Given the description of an element on the screen output the (x, y) to click on. 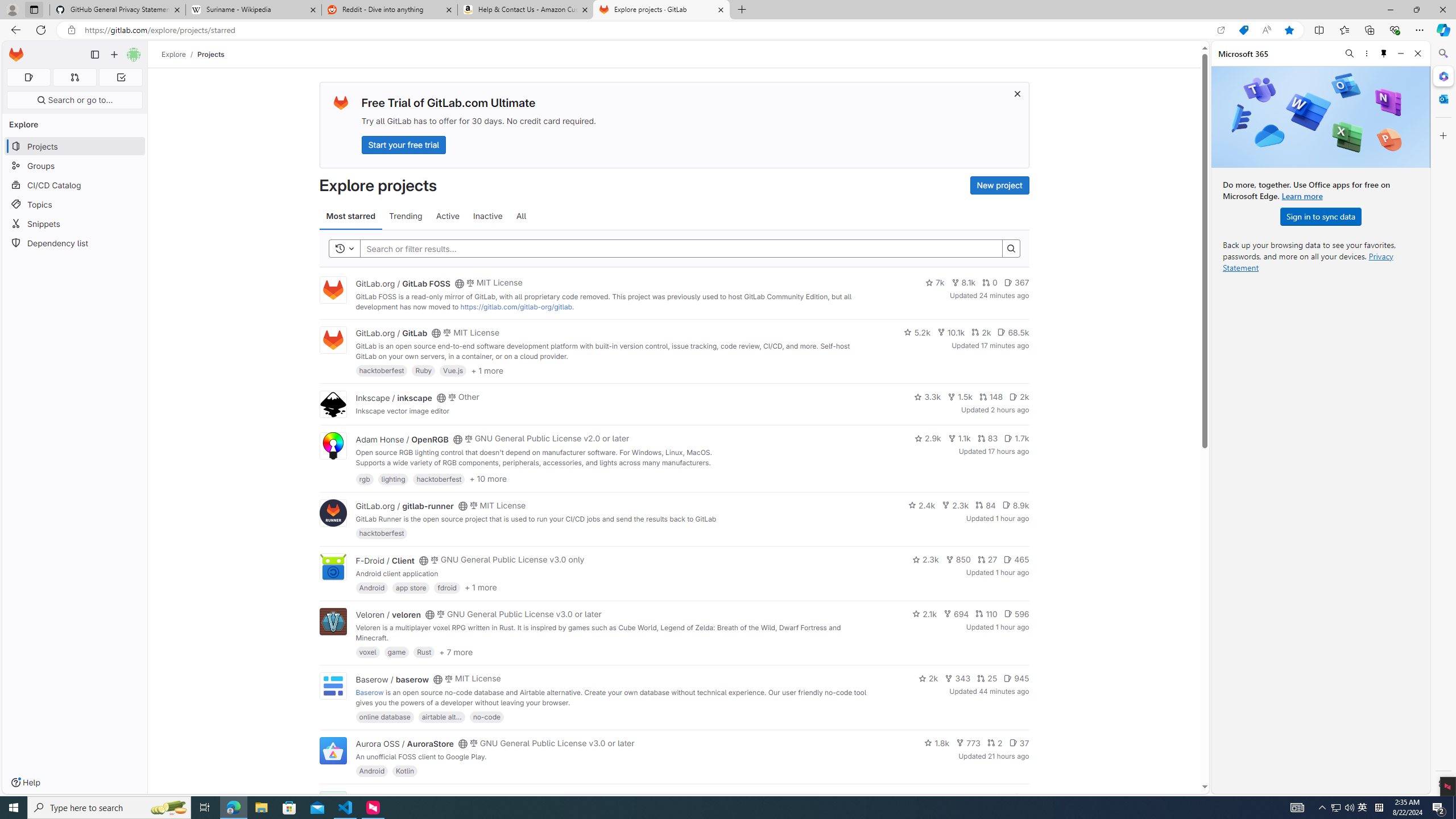
Explore/ (179, 53)
Class: s14 gl-mr-2 (1017, 796)
945 (1016, 678)
https://openrgb.org (451, 472)
Sign in to sync data (1320, 216)
3.3k (927, 396)
Dismiss trial promotion (1017, 93)
Explore (173, 53)
Baserow / baserow (392, 678)
